Given the description of an element on the screen output the (x, y) to click on. 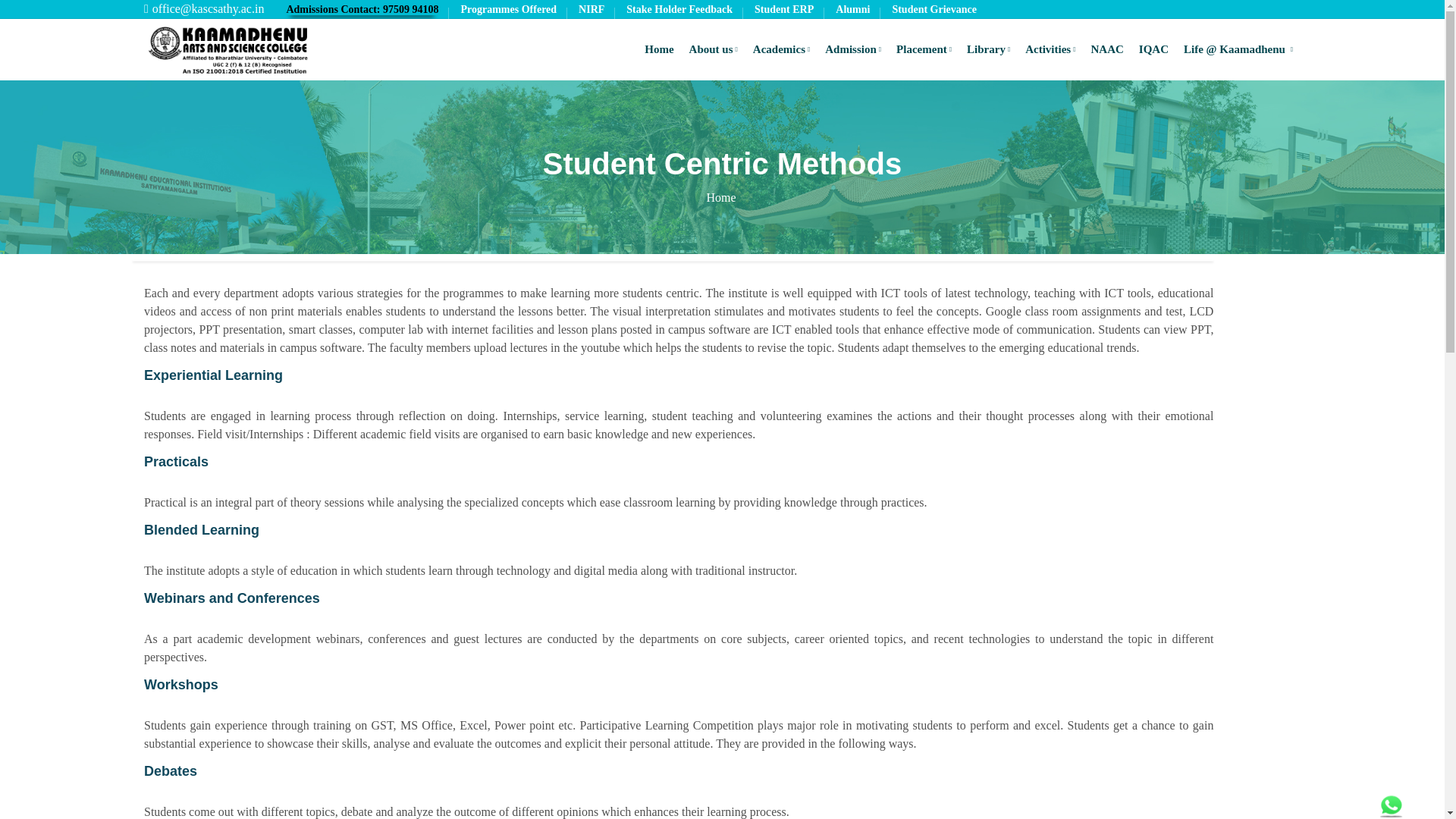
Academics (780, 49)
Departments (720, 196)
Student ERP (783, 9)
NIRF (591, 9)
Student Grievance (933, 9)
Alumni (852, 9)
Programmes Offered (508, 9)
Admissions Contact: 97509 94108 (361, 9)
About us (713, 49)
Stake Holder Feedback (679, 9)
